Given the description of an element on the screen output the (x, y) to click on. 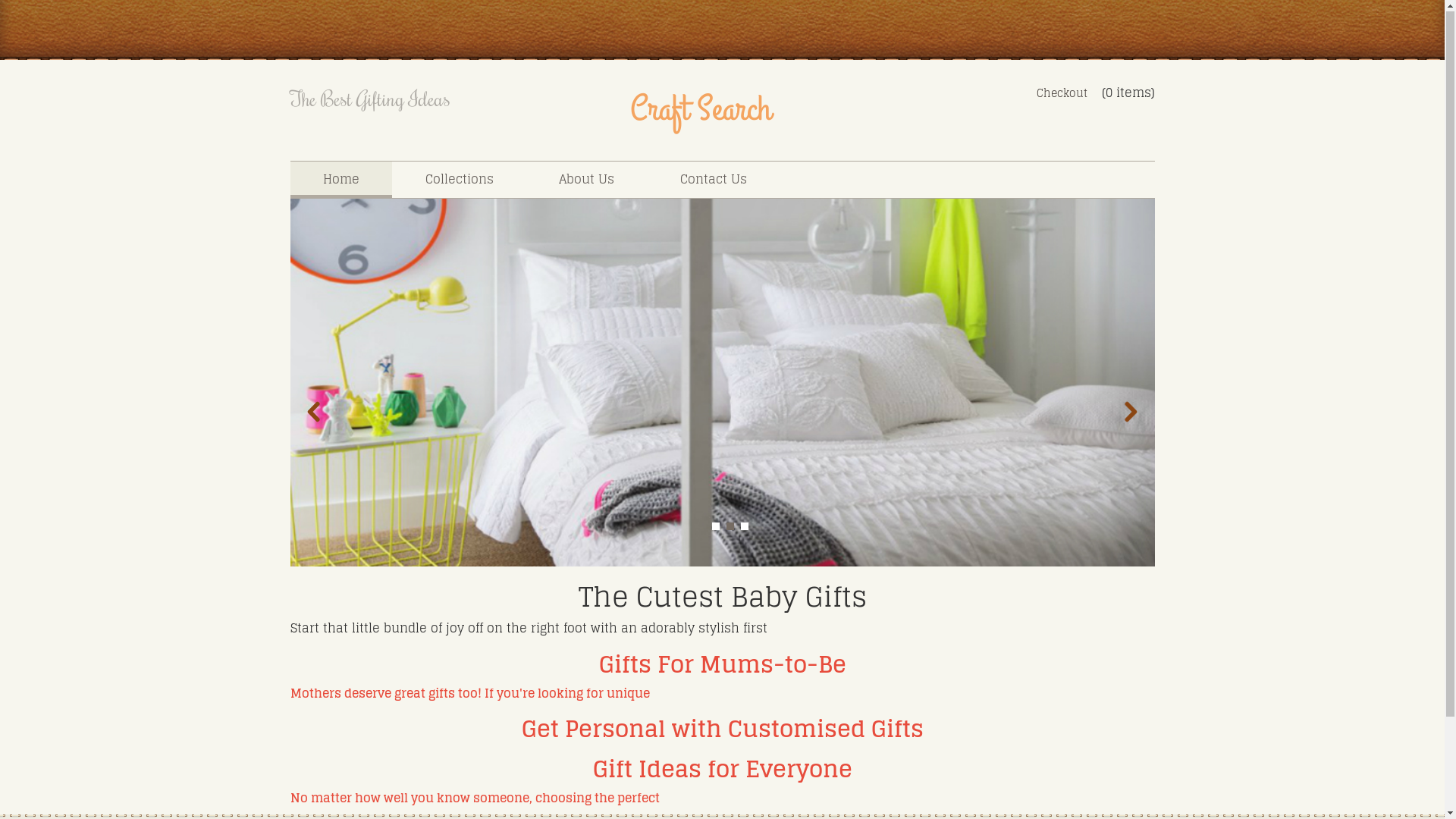
Get Personal with Customised Gifts Element type: text (722, 729)
Gift Ideas for Everyone Element type: text (722, 769)
Collections Element type: text (459, 180)
Previous Element type: text (314, 412)
Next Element type: text (1130, 412)
Checkout Element type: text (1061, 93)
Home Element type: text (340, 180)
Craft Search Element type: text (700, 114)
About Us Element type: text (586, 180)
Contact Us Element type: text (713, 180)
Gifts For Mums-to-Be Element type: text (722, 664)
No matter how well you know someone, choosing the perfect Element type: text (473, 798)
